Given the description of an element on the screen output the (x, y) to click on. 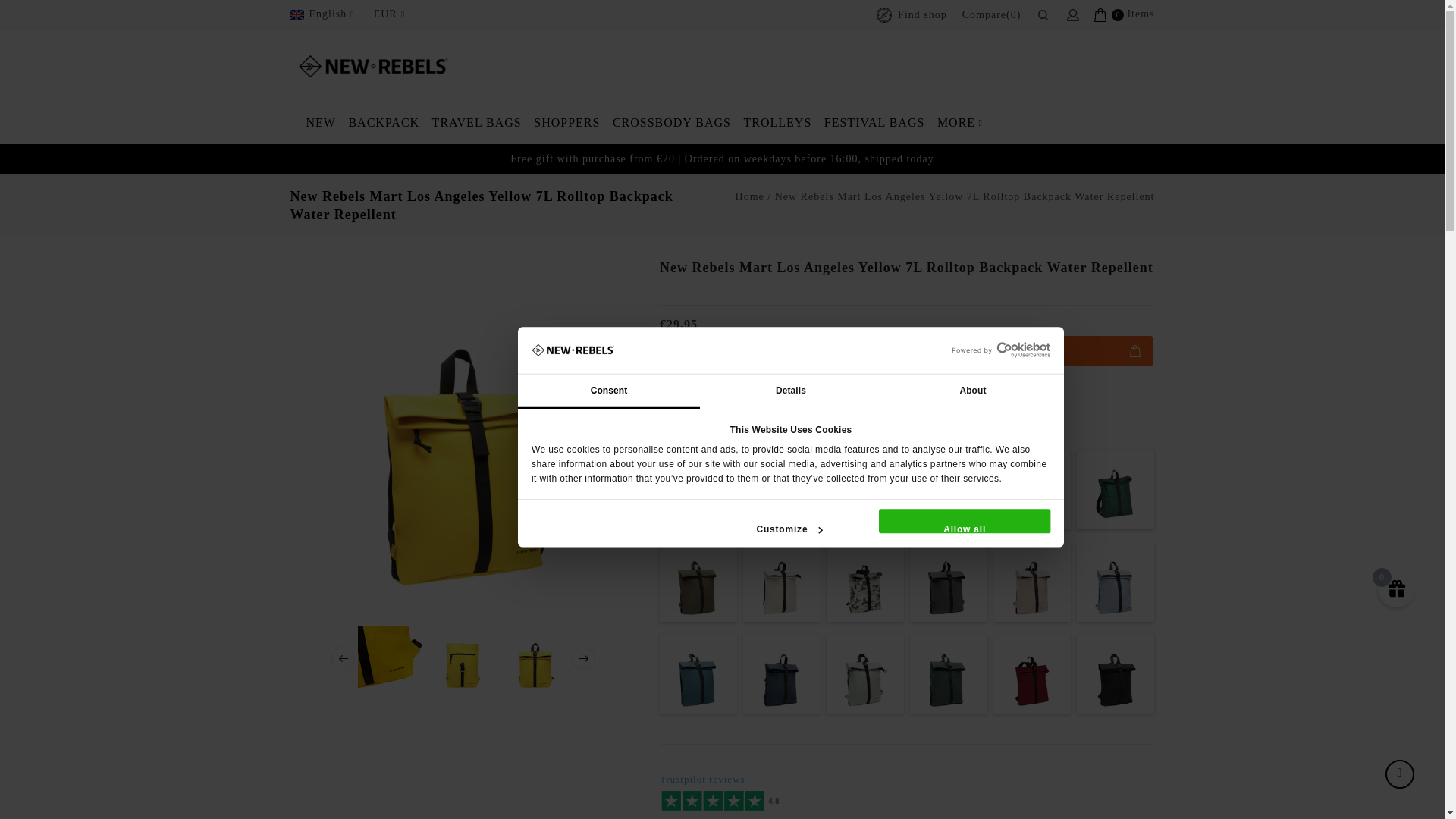
Details (812, 394)
About (994, 394)
1 (675, 351)
Consent (630, 394)
